Given the description of an element on the screen output the (x, y) to click on. 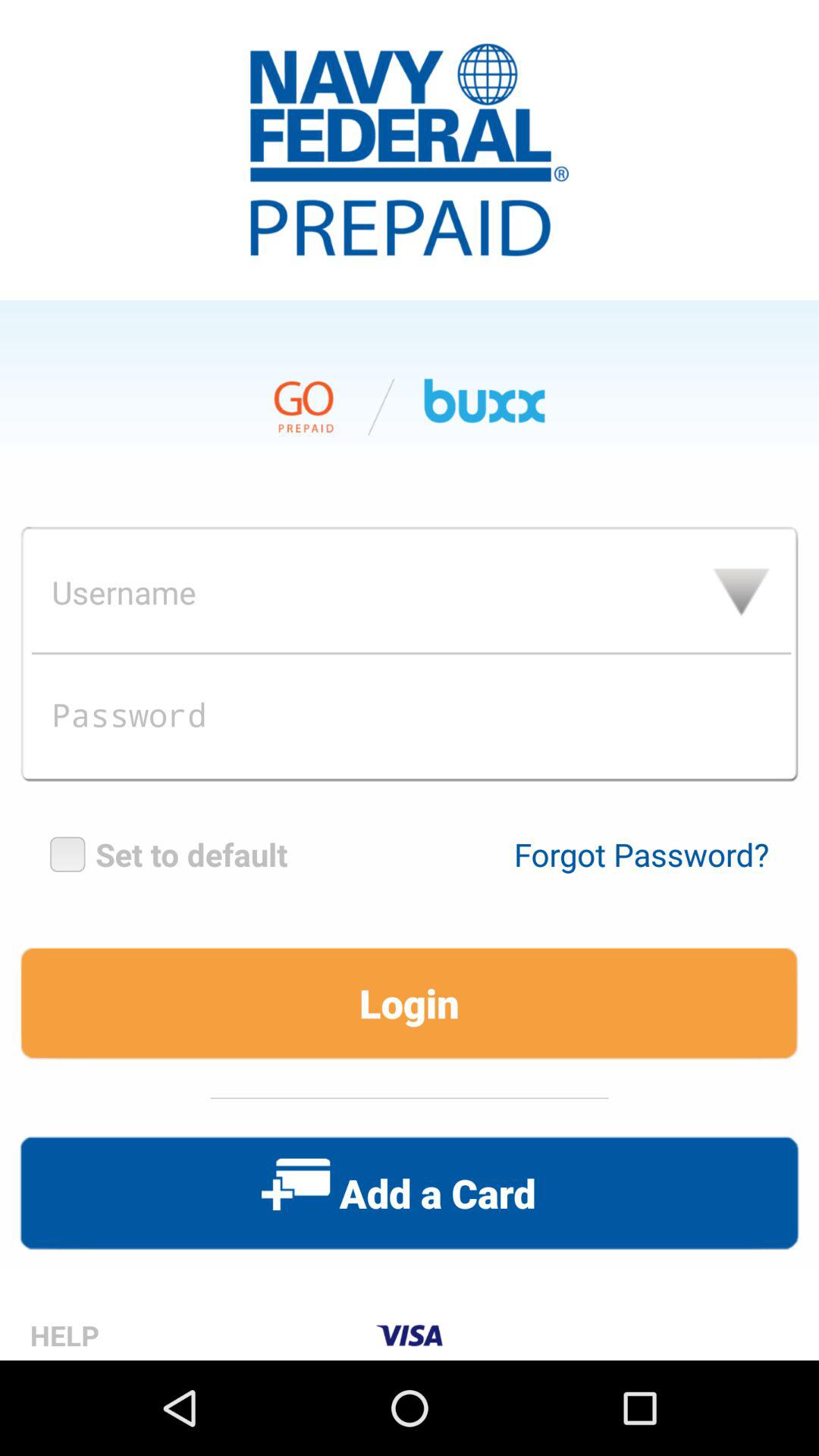
click on logo which is in the middle of the page (409, 149)
